Given the description of an element on the screen output the (x, y) to click on. 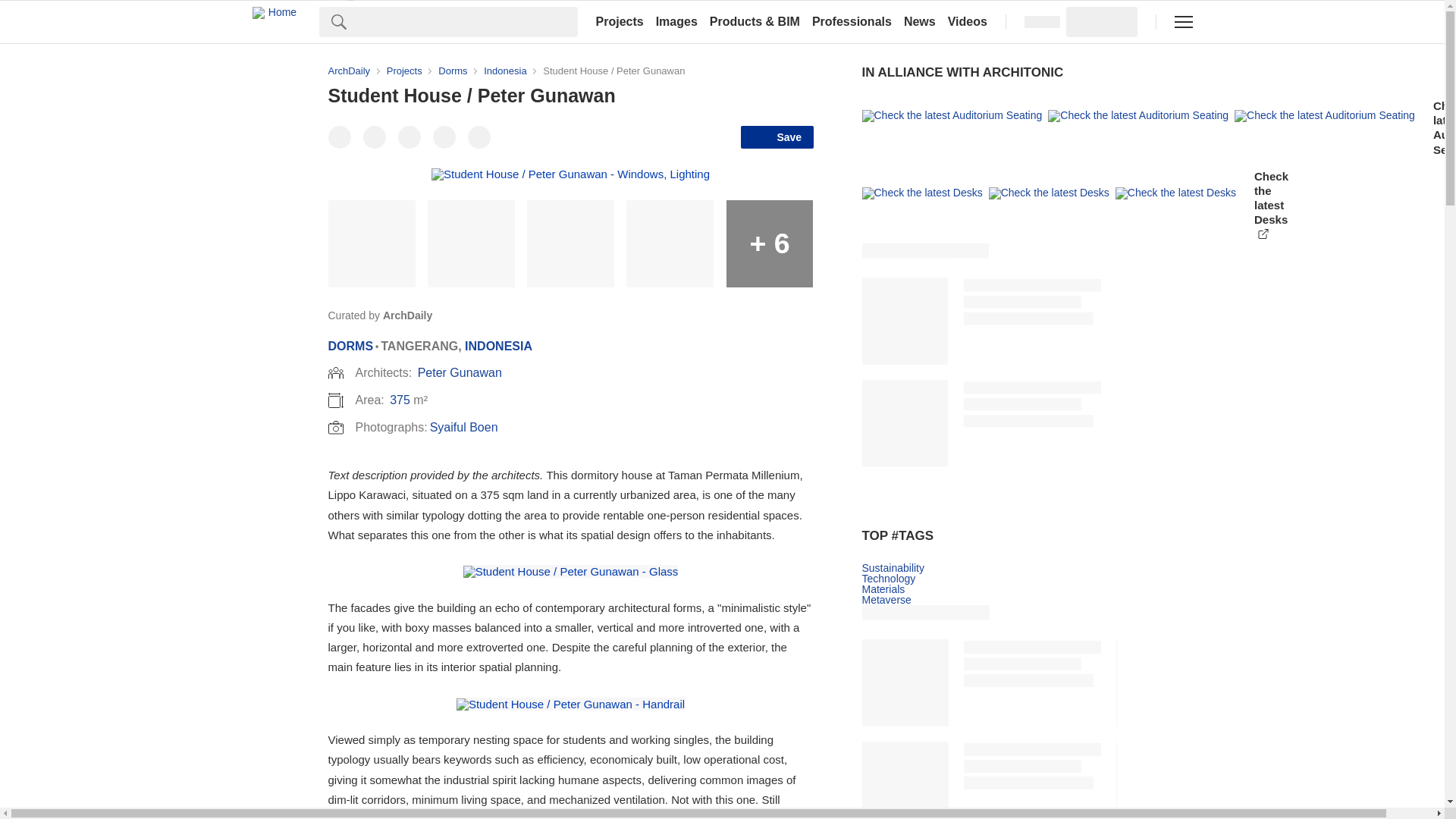
Videos (967, 21)
Professionals (852, 21)
Projects (619, 21)
Images (676, 21)
News (920, 21)
